Given the description of an element on the screen output the (x, y) to click on. 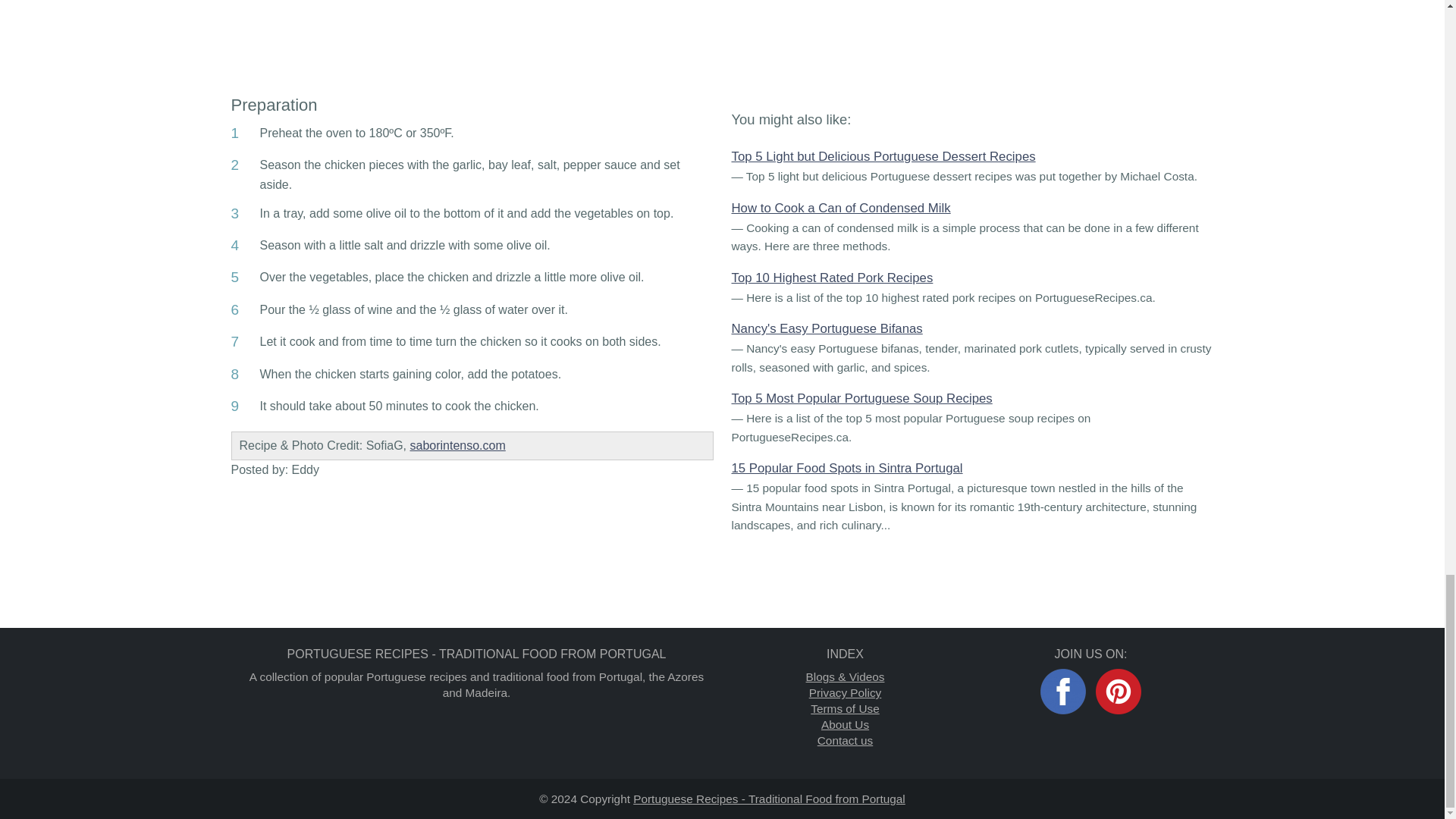
Join us on Facebook (1063, 691)
How to Cook a Can of Condensed Milk (840, 207)
Top 10 Highest Rated Pork Recipes (831, 278)
15 Popular Food Spots in Sintra Portugal (846, 468)
About Us (845, 724)
Top 5 Light but Delicious Portuguese Dessert Recipes (882, 156)
Contact us (844, 739)
Terms of Use (844, 707)
Follow us on Pinterest (1118, 691)
Privacy Policy (845, 692)
